Given the description of an element on the screen output the (x, y) to click on. 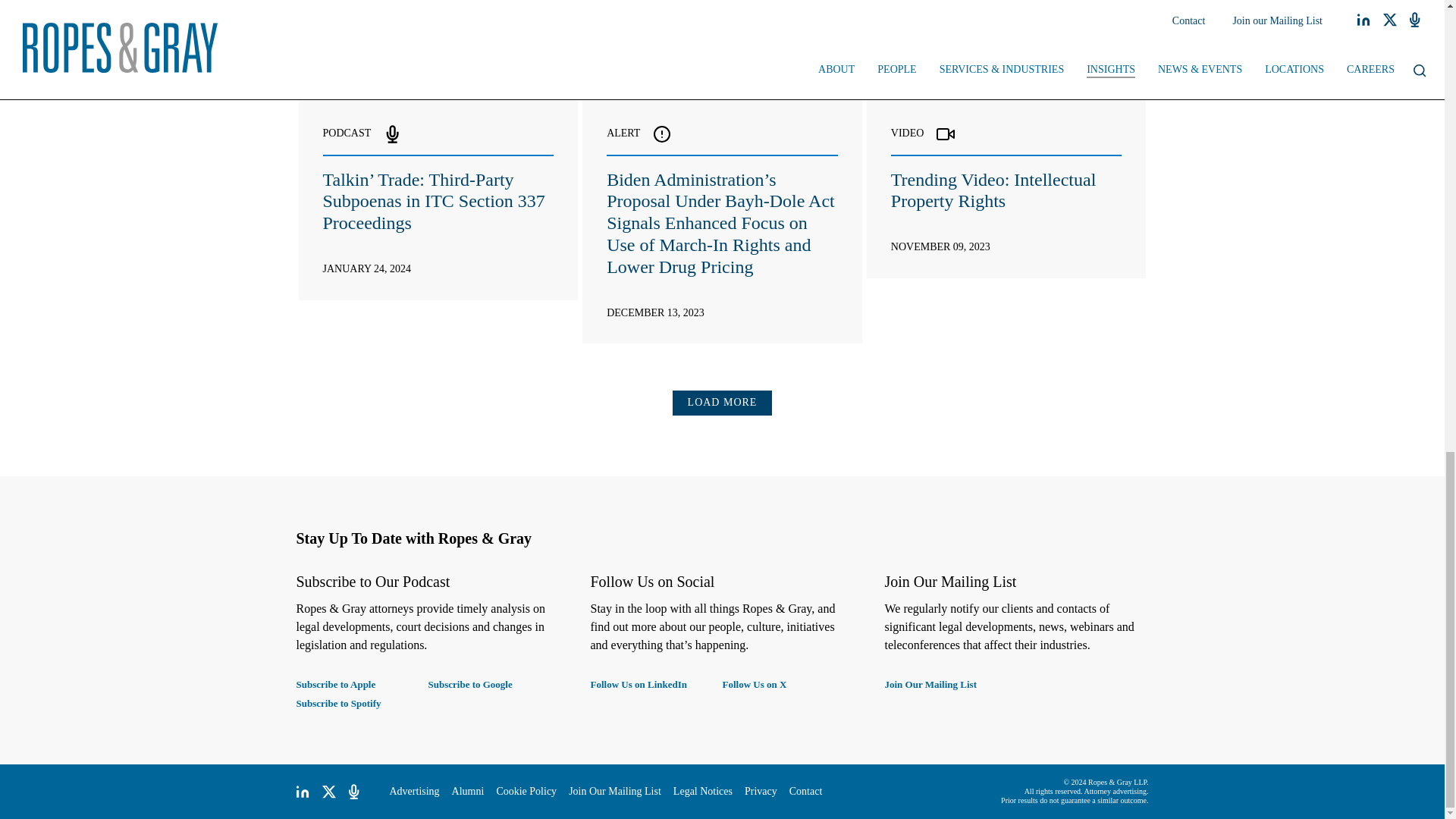
View All (1126, 56)
linkedin (301, 791)
x (328, 791)
Subscribe to Apple (361, 684)
LOAD MORE (722, 402)
